Given the description of an element on the screen output the (x, y) to click on. 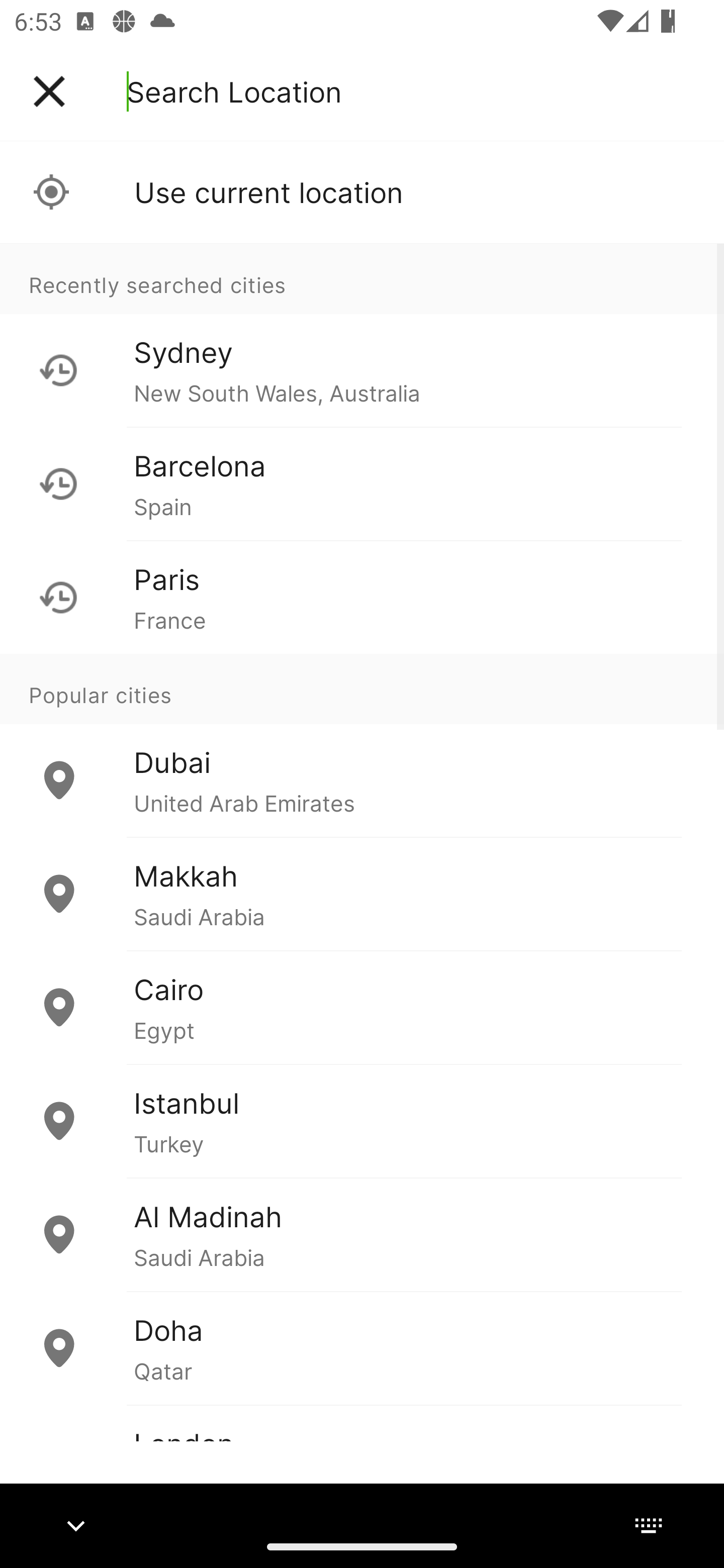
Search Location (234, 91)
Use current location (362, 192)
Recently searched cities (362, 278)
Barcelona Spain (362, 483)
Paris France (362, 596)
Popular cities Dubai United Arab Emirates (362, 745)
Popular cities (362, 688)
Makkah Saudi Arabia (362, 893)
Cairo Egypt (362, 1007)
Istanbul Turkey (362, 1120)
Al Madinah Saudi Arabia (362, 1233)
Doha Qatar (362, 1347)
